Given the description of an element on the screen output the (x, y) to click on. 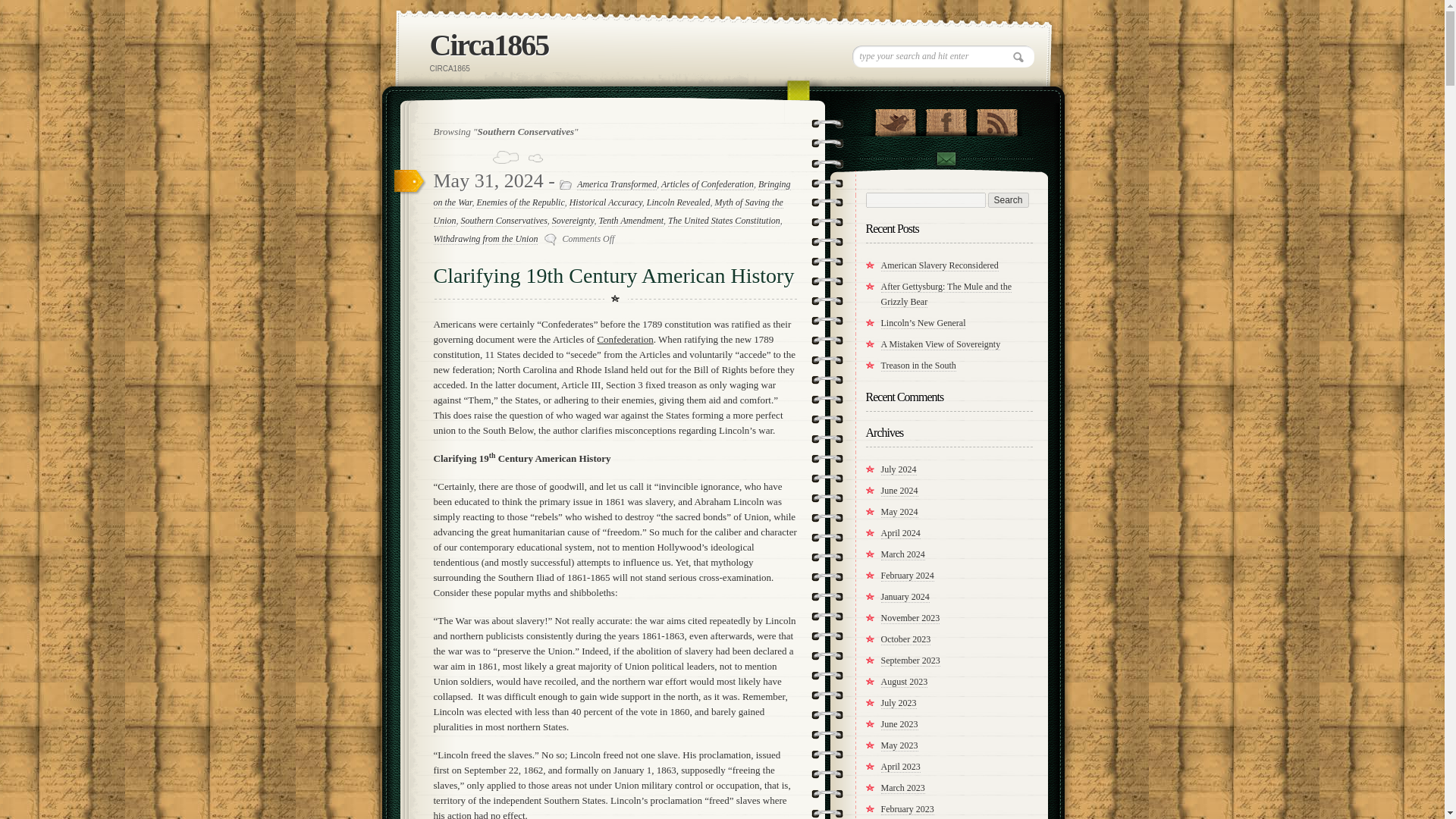
Withdrawing from the Union (485, 238)
Bringing on the War (611, 193)
Myth of Saving the Union (608, 211)
Follow Us on Twitter! (894, 118)
Enemies of the Republic (520, 202)
Sovereignty (572, 220)
Southern Conservatives (504, 220)
Historical Accuracy (605, 202)
Circa1865 (488, 44)
RSS (996, 118)
Join Us on Facebook! (945, 118)
Search (1007, 200)
The United States Constitution (724, 220)
type your search and hit enter (942, 56)
Articles of Confederation (707, 184)
